Given the description of an element on the screen output the (x, y) to click on. 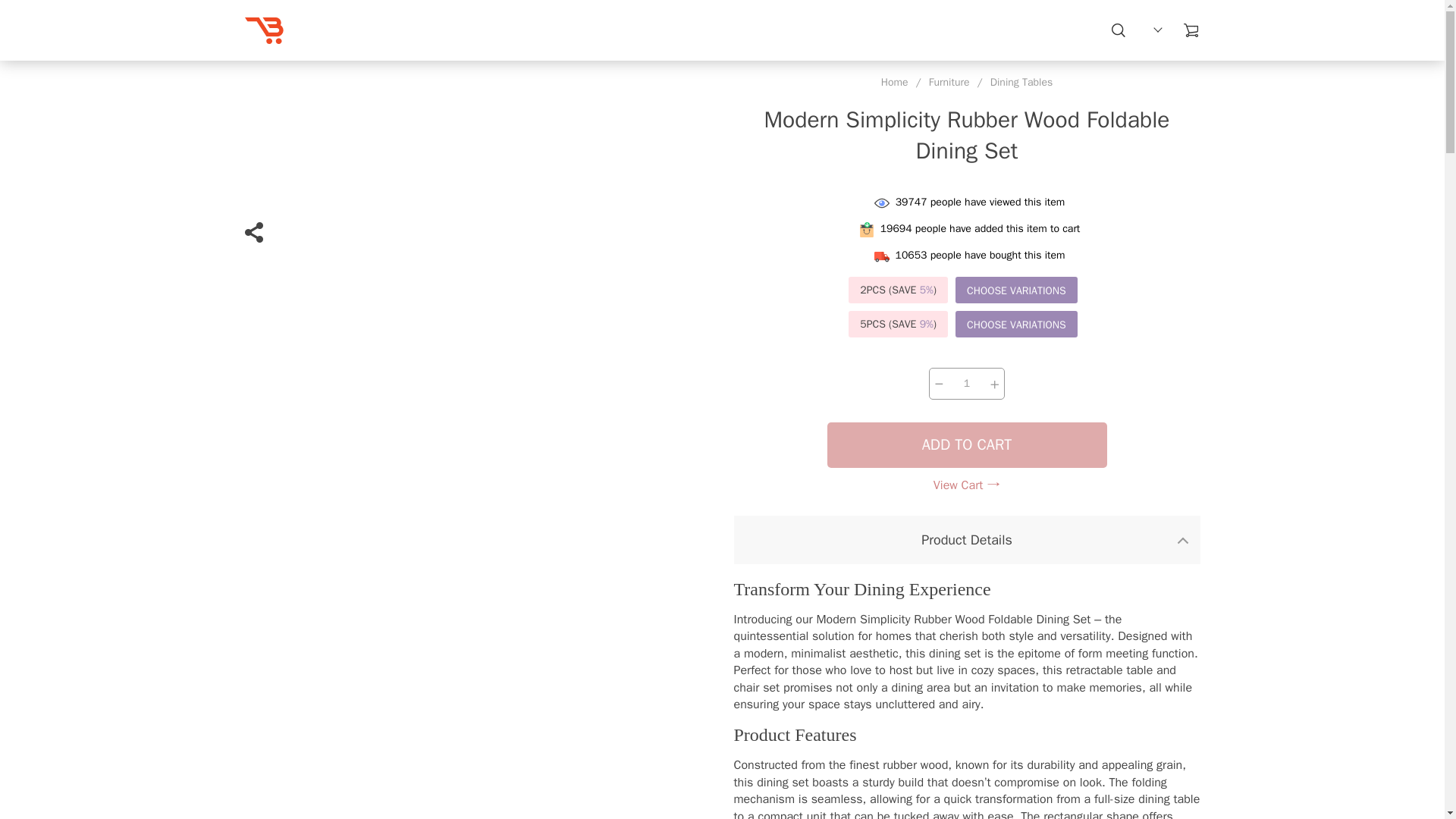
1 (966, 383)
